Given the description of an element on the screen output the (x, y) to click on. 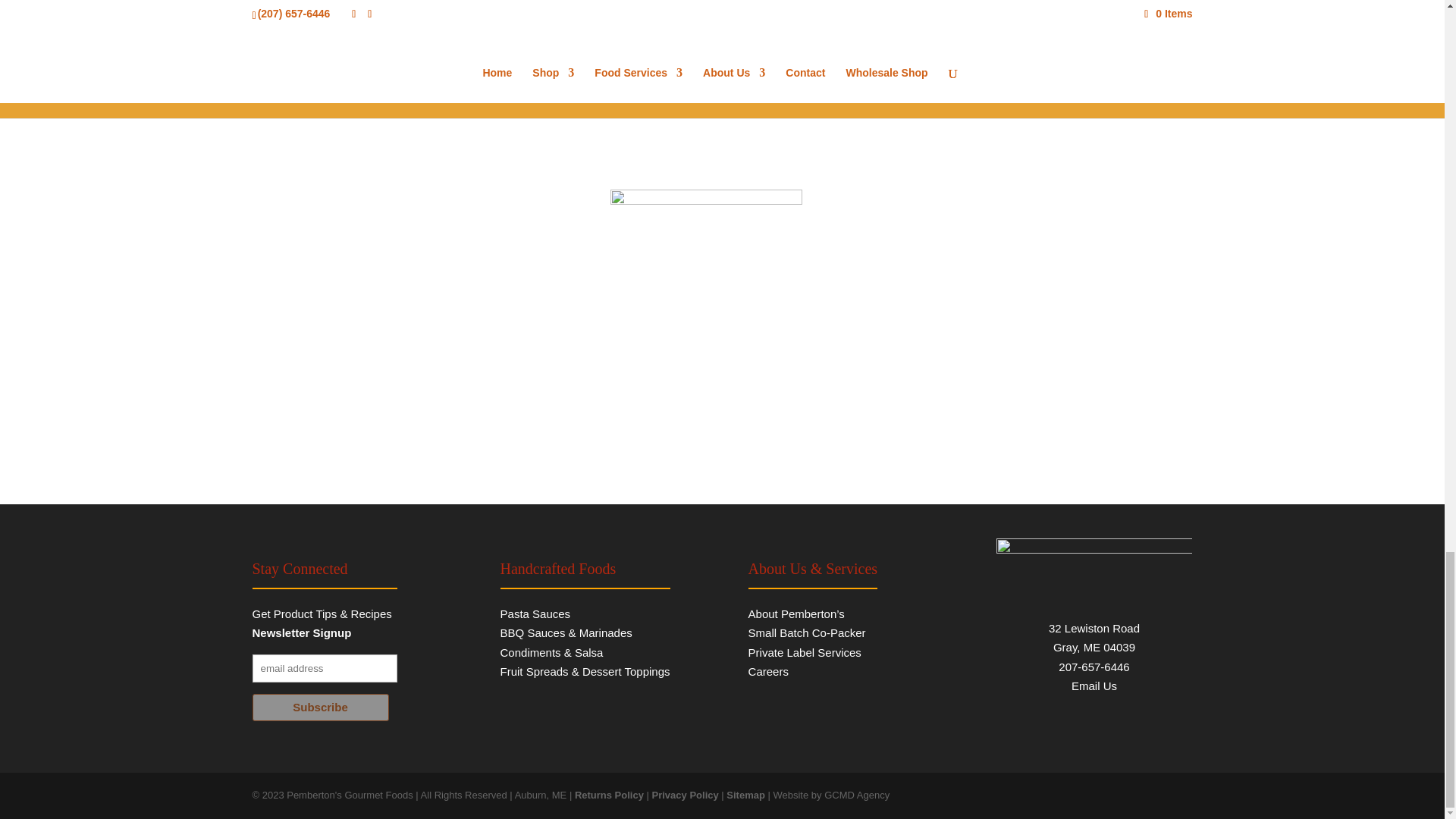
Subscribe (319, 707)
Pasta Sauces (535, 613)
Subscribe (319, 707)
View Recipies (722, 29)
